Given the description of an element on the screen output the (x, y) to click on. 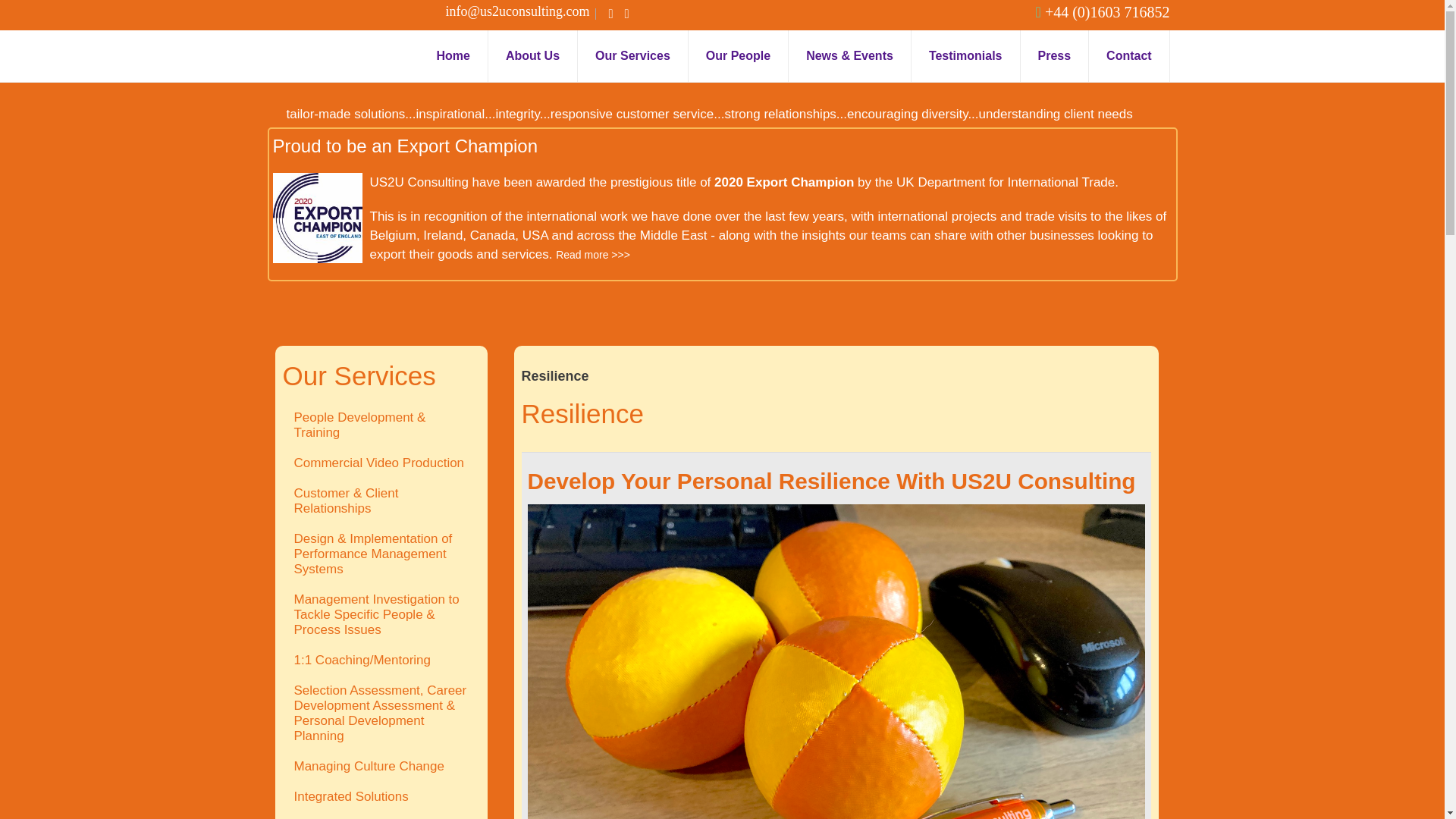
Testimonials (965, 55)
Press (1054, 55)
IT Training (380, 815)
Integrated Solutions (380, 797)
Develop Your Personal Resilience With US2U Consulting (831, 480)
Home (452, 55)
Our Services (632, 55)
Managing Culture Change (380, 766)
About Us (531, 55)
Contact (1129, 55)
